Given the description of an element on the screen output the (x, y) to click on. 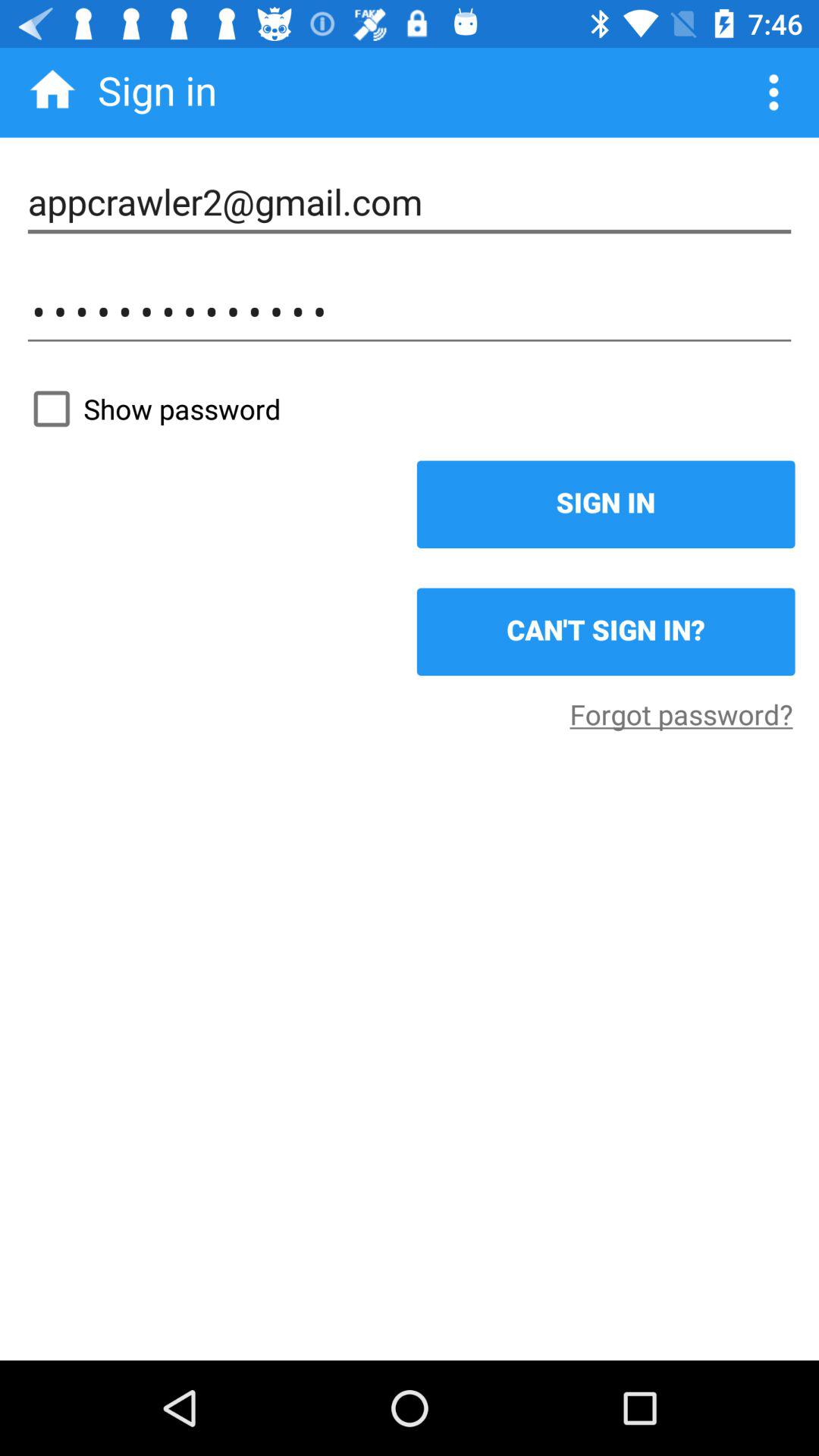
choose the item above sign in (409, 408)
